Given the description of an element on the screen output the (x, y) to click on. 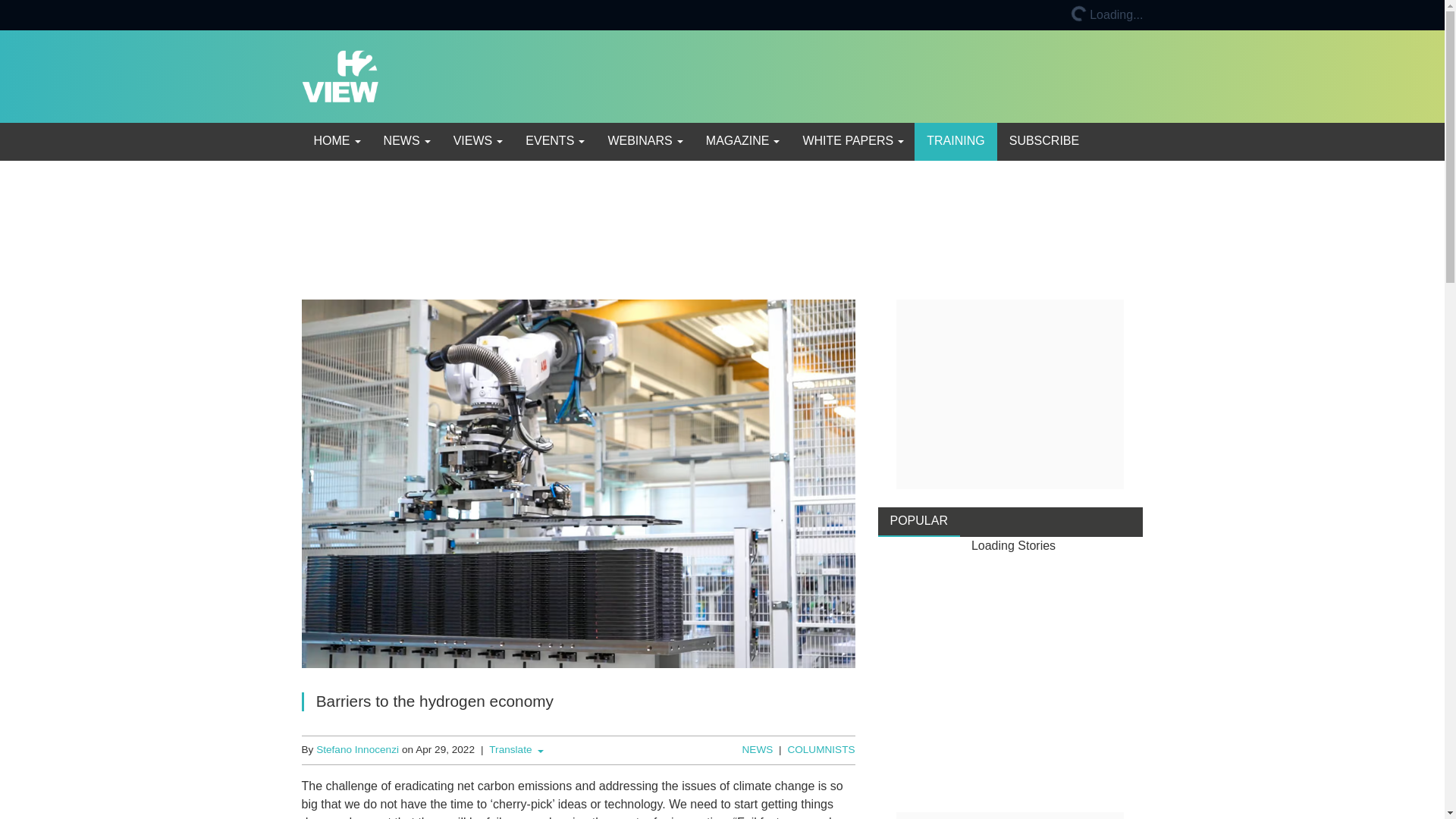
NEWS (406, 140)
News (406, 140)
VIEWS (477, 140)
HOME (336, 140)
H2 View (339, 74)
Home (336, 140)
